Given the description of an element on the screen output the (x, y) to click on. 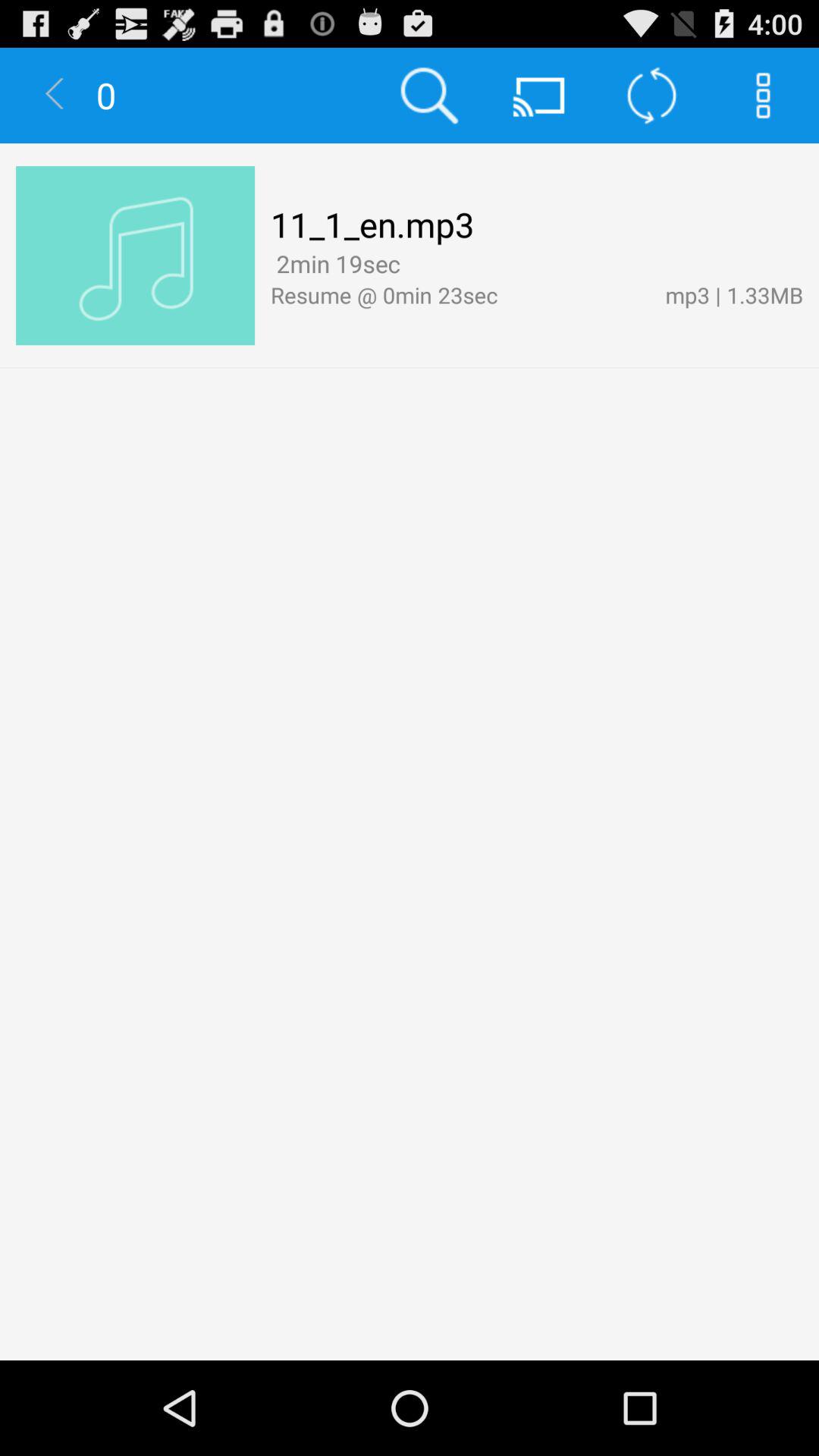
choose the app next to the 11_1_en.mp3 (134, 255)
